Given the description of an element on the screen output the (x, y) to click on. 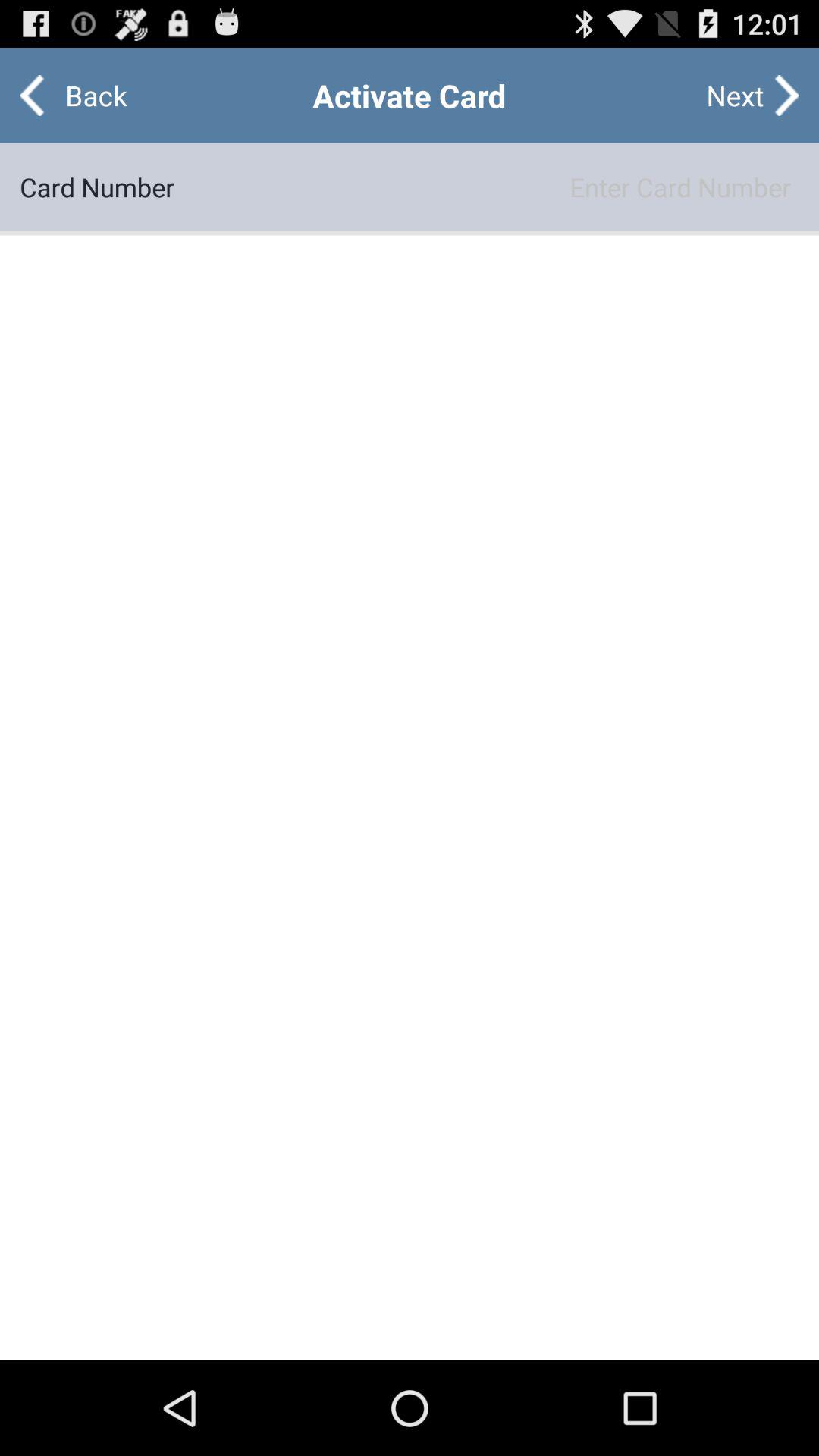
type the card number (486, 186)
